Given the description of an element on the screen output the (x, y) to click on. 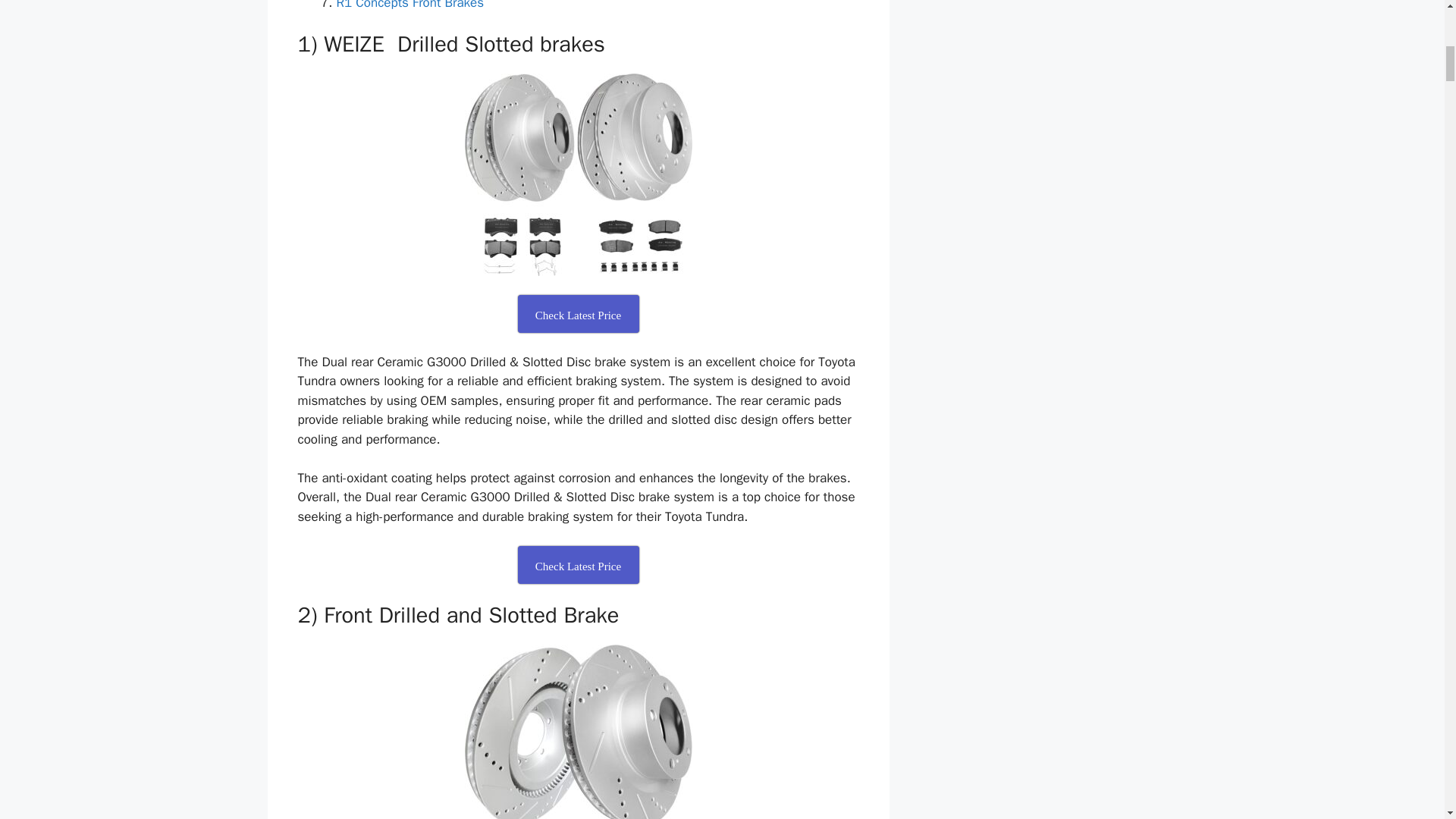
Check Latest Price (577, 564)
Check Latest Price (577, 313)
R1 Concepts Front Brakes (410, 5)
